Given the description of an element on the screen output the (x, y) to click on. 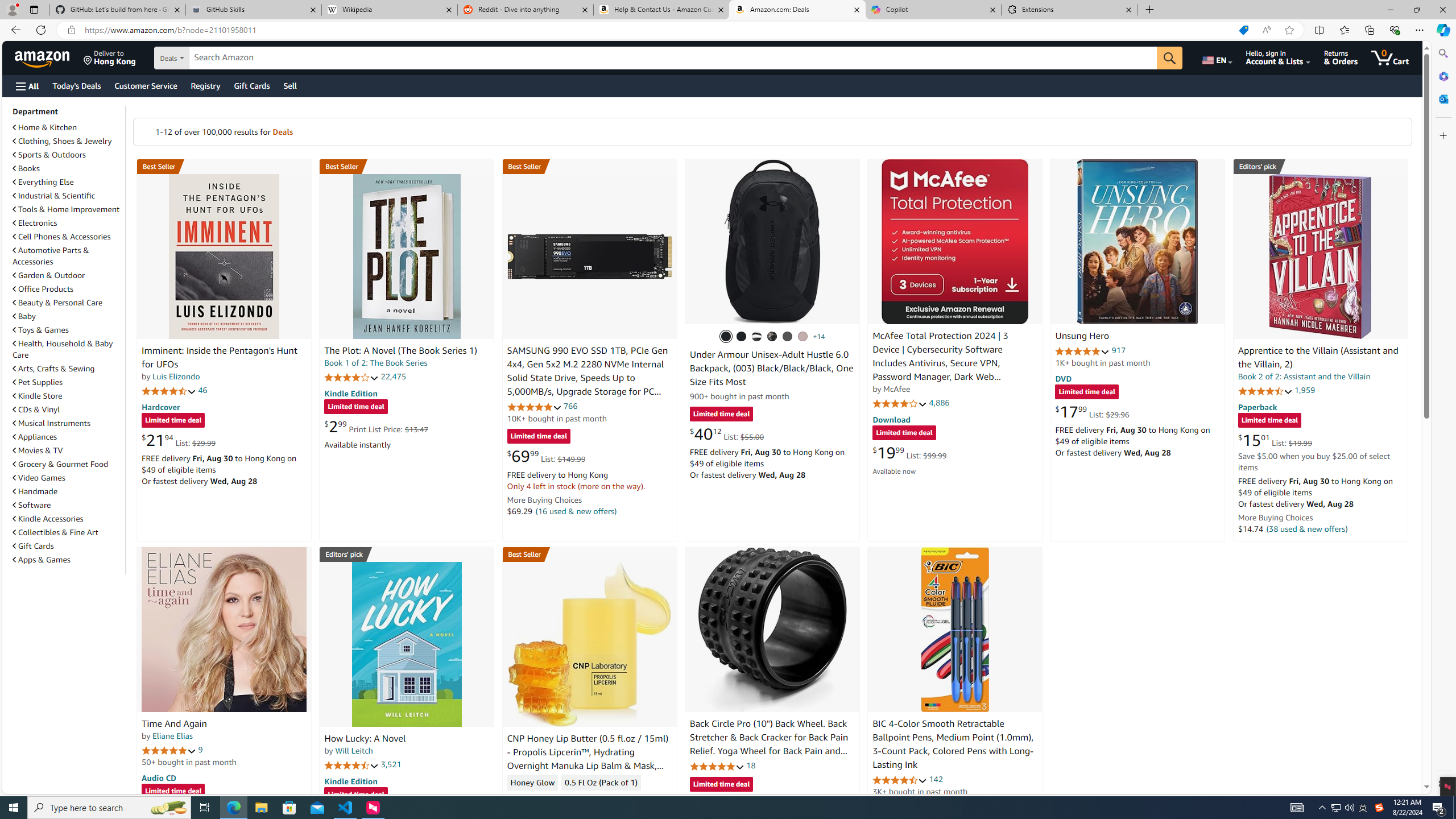
Will Leitch (353, 750)
Address and search bar (658, 29)
4.2 out of 5 stars (352, 377)
Software (31, 504)
Pet Supplies (37, 381)
4.9 out of 5 stars (1082, 351)
Video Games (39, 477)
766 (570, 406)
4.6 out of 5 stars (899, 779)
+14 (818, 336)
Industrial & Scientific (67, 195)
Open Menu (26, 86)
Handmade (67, 491)
Search (1442, 53)
